Given the description of an element on the screen output the (x, y) to click on. 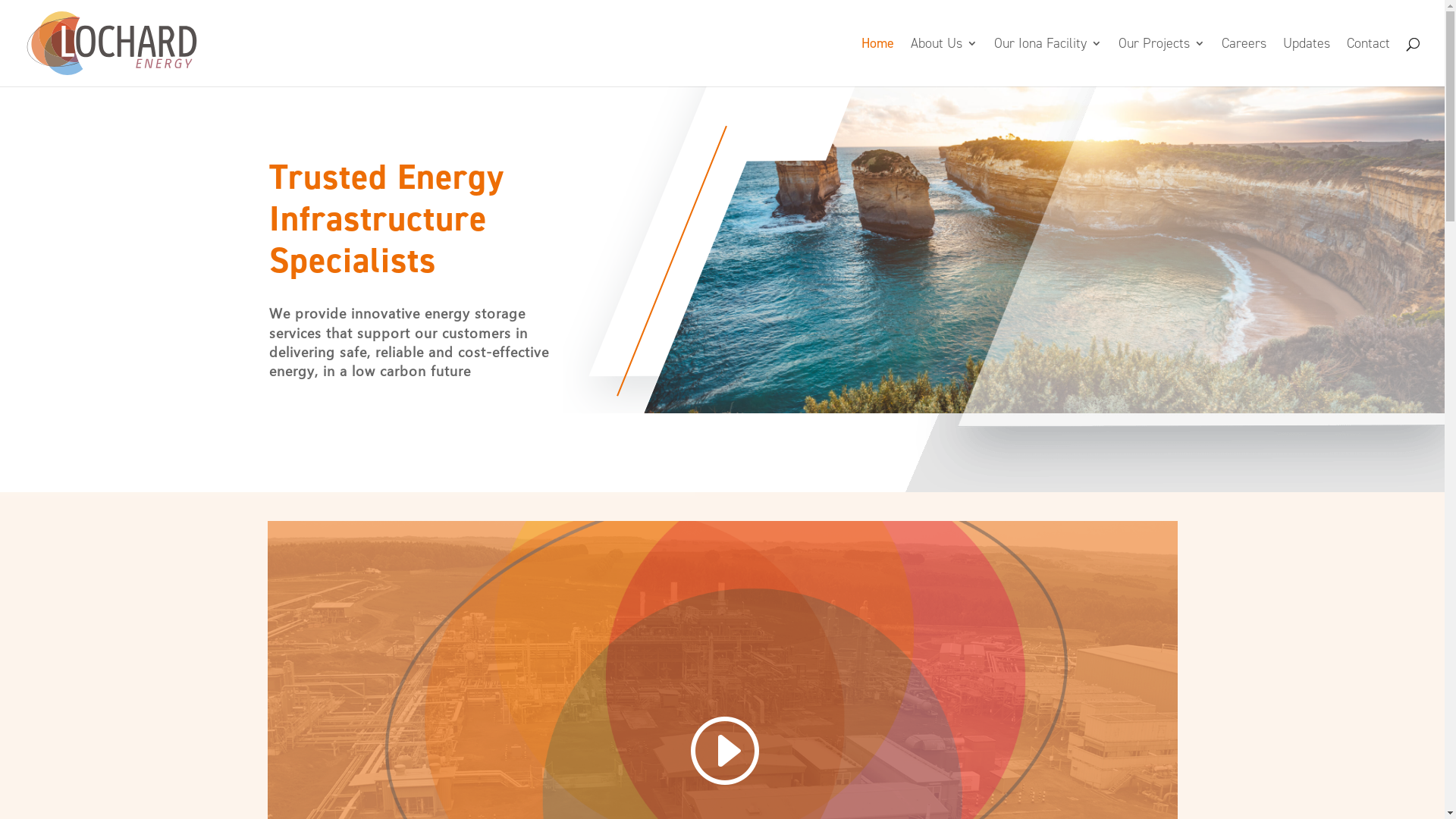
About Us Element type: text (943, 61)
Our Iona Facility Element type: text (1047, 61)
Updates Element type: text (1306, 61)
Contact Element type: text (1368, 61)
shutterstock_1106592248 Element type: hover (708, 249)
Careers Element type: text (1243, 61)
Our Projects Element type: text (1161, 61)
Home Element type: text (877, 61)
